Given the description of an element on the screen output the (x, y) to click on. 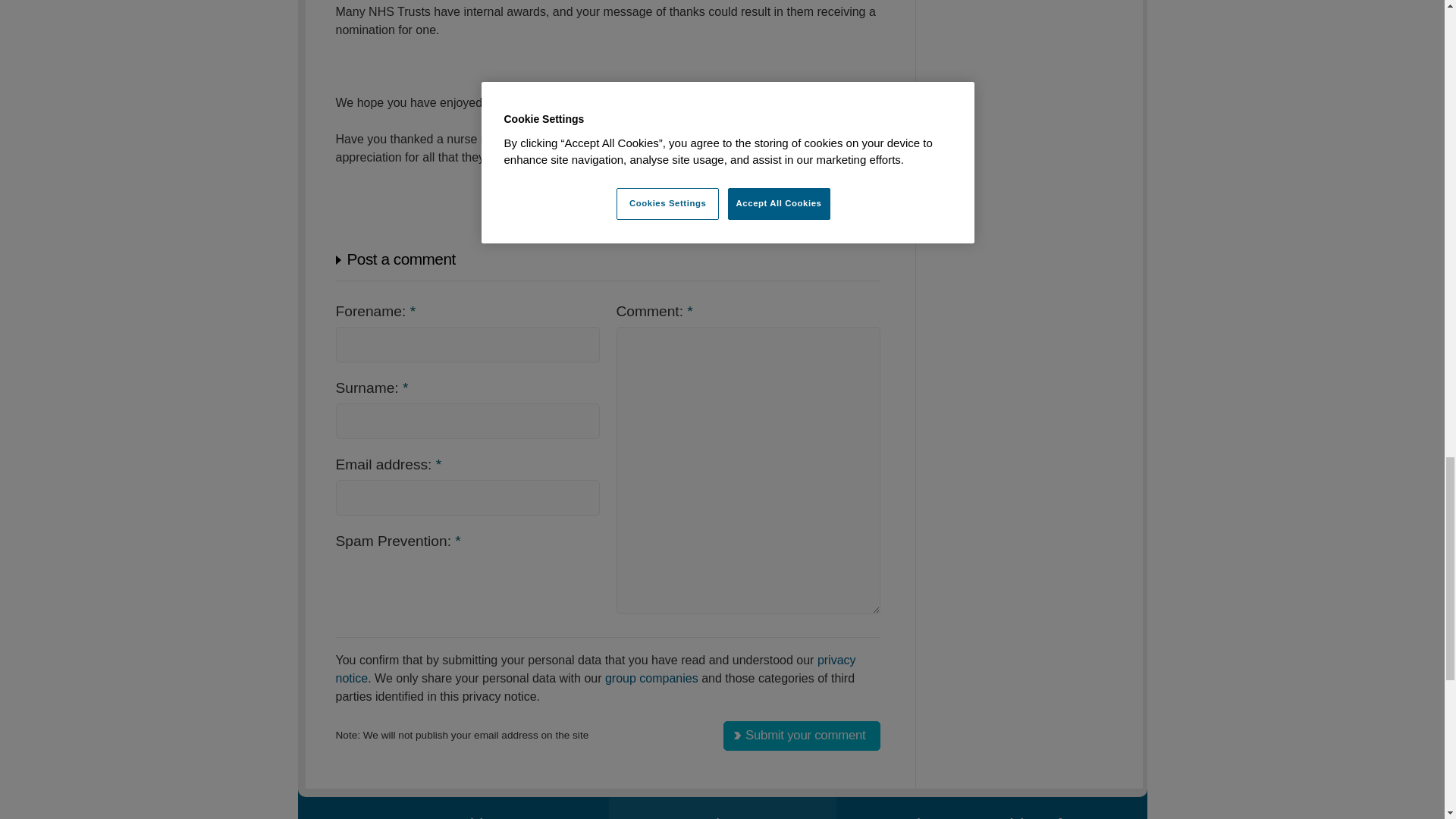
Submit your comment (801, 736)
Share this article on LinkedIn (824, 207)
Share this article on Twitter (774, 207)
Forward this article by email (875, 207)
Share this article on Facebook (799, 207)
